Given the description of an element on the screen output the (x, y) to click on. 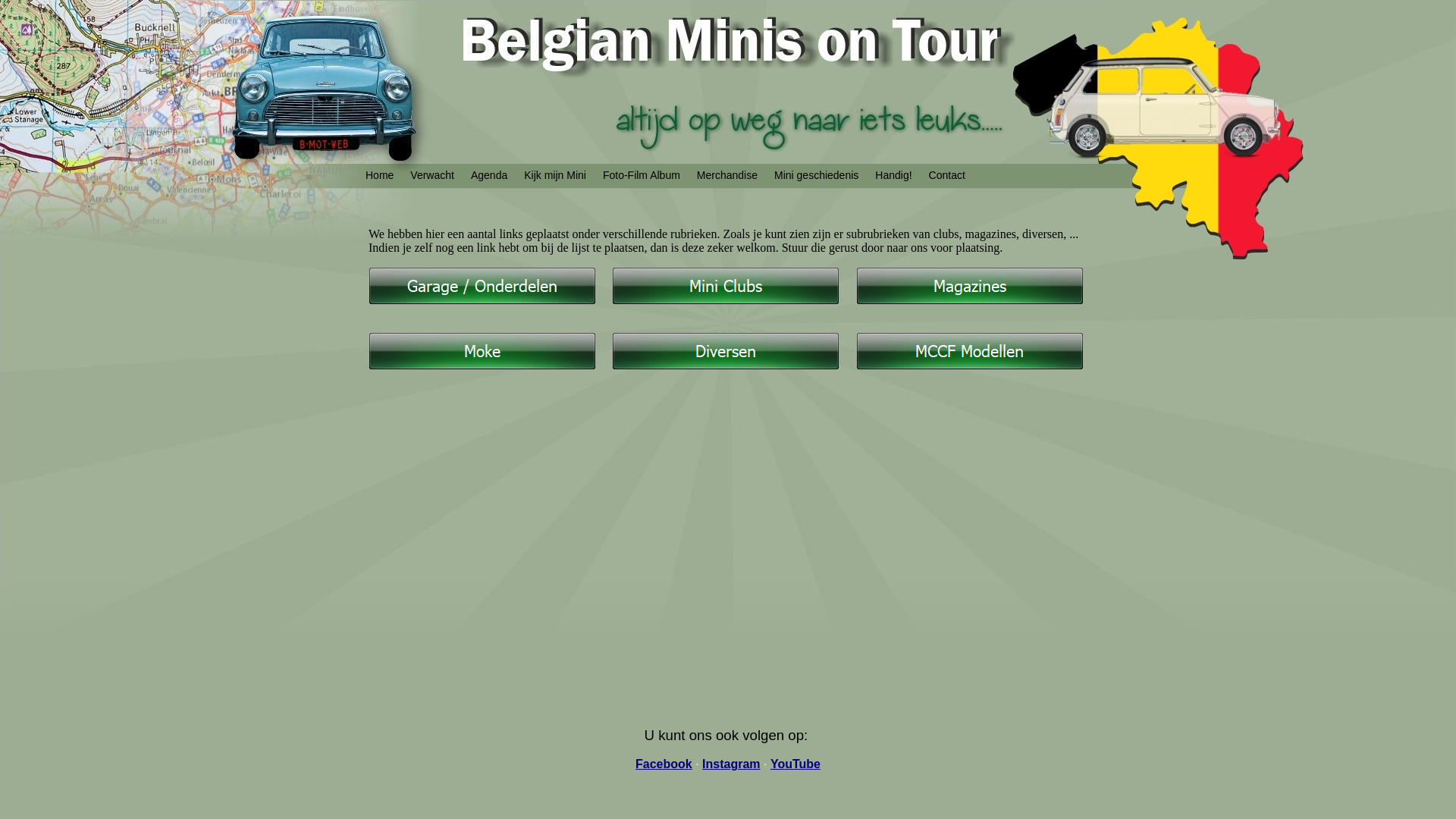
Merchandise Element type: text (726, 175)
Foto-Film Album Element type: text (641, 175)
Agenda Element type: text (488, 175)
YouTube Element type: text (795, 763)
Kijk mijn Mini Element type: text (554, 175)
Handig! Element type: text (892, 175)
Mini geschiedenis Element type: text (815, 175)
Home Element type: text (379, 175)
Facebook Element type: text (663, 763)
Instagram Element type: text (730, 763)
Contact Element type: text (946, 175)
Verwacht Element type: text (431, 175)
